Given the description of an element on the screen output the (x, y) to click on. 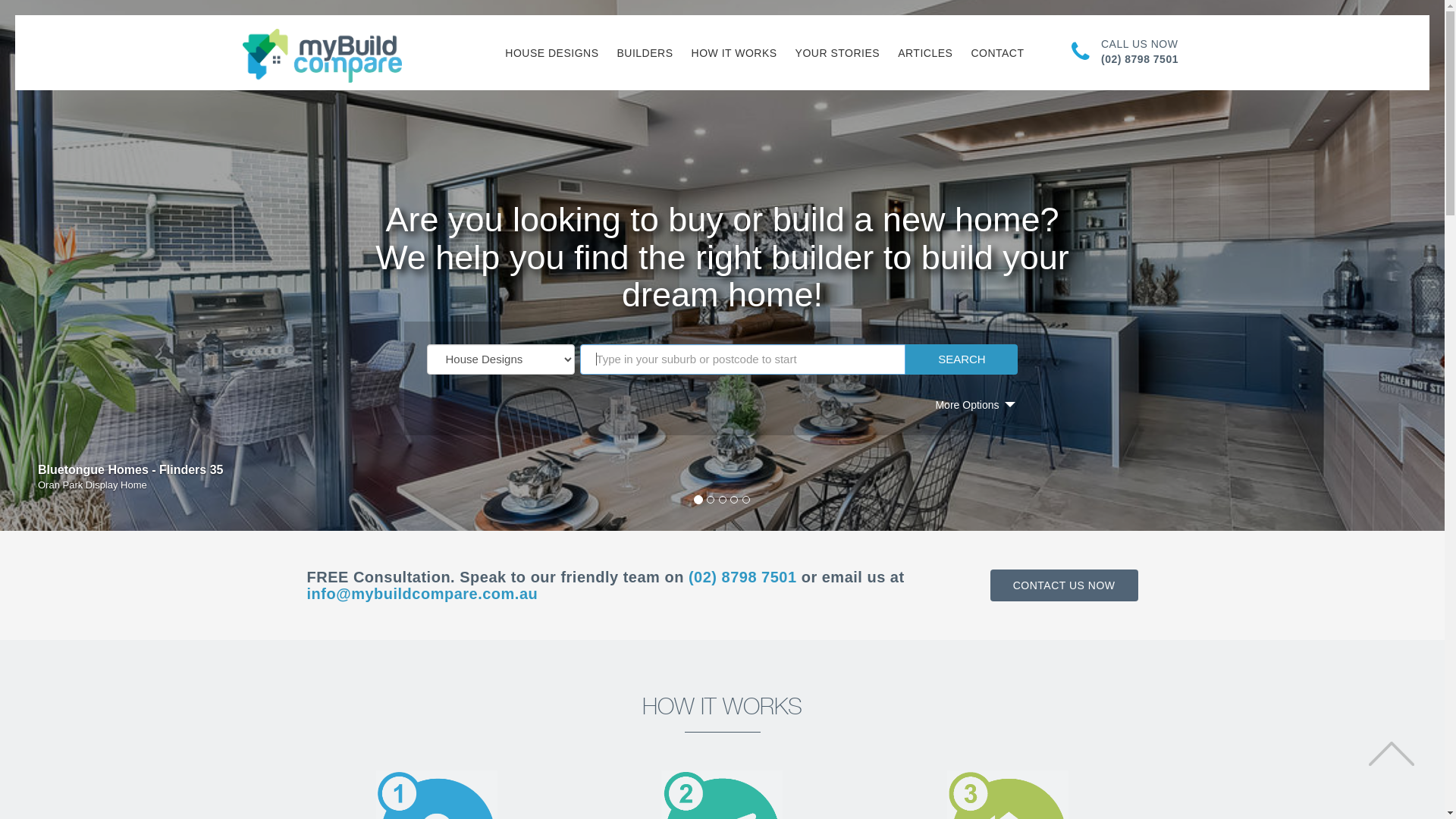
(02) 8798 7501 Element type: text (742, 576)
BUILDERS Element type: text (645, 53)
CONTACT Element type: text (996, 53)
SEARCH Element type: text (961, 359)
CALL US NOW
(02) 8798 7501 Element type: text (1136, 51)
Bluetongue Homes - Flinders 35 Element type: text (129, 470)
More Options Element type: text (966, 404)
HOW IT WORKS Element type: text (734, 53)
YOUR STORIES Element type: text (837, 53)
CONTACT US NOW Element type: text (1064, 585)
ARTICLES Element type: text (924, 53)
HOUSE DESIGNS Element type: text (551, 53)
Oran Park Display Home Element type: text (92, 484)
info@mybuildcompare.com.au Element type: text (421, 593)
Go Up Element type: text (1391, 753)
